Given the description of an element on the screen output the (x, y) to click on. 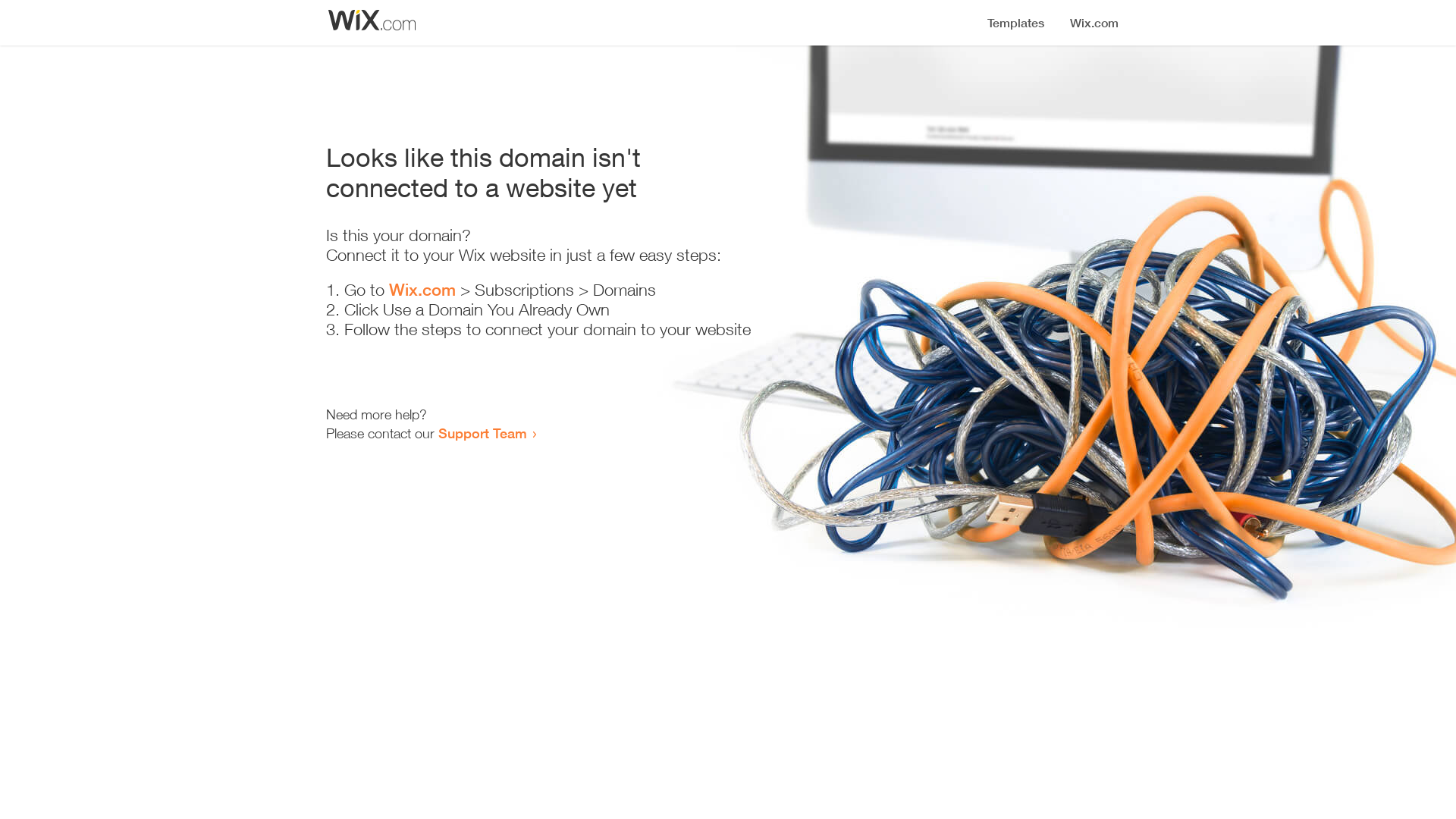
Wix.com Element type: text (422, 289)
Support Team Element type: text (482, 432)
